Given the description of an element on the screen output the (x, y) to click on. 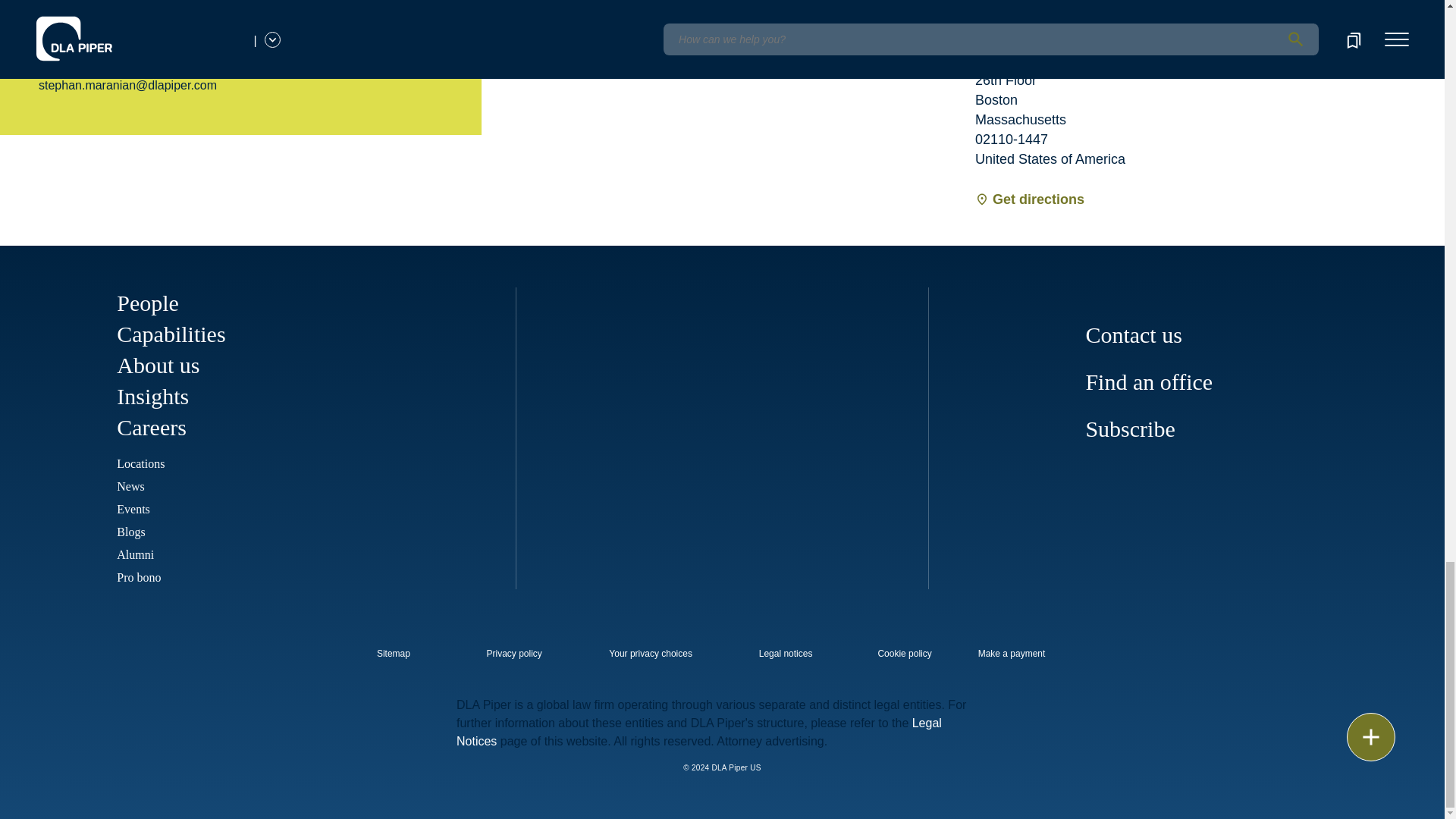
Send Email (75, 52)
external (1021, 649)
internal (784, 653)
external (404, 649)
internal (513, 653)
internal (651, 653)
internal (904, 653)
